Given the description of an element on the screen output the (x, y) to click on. 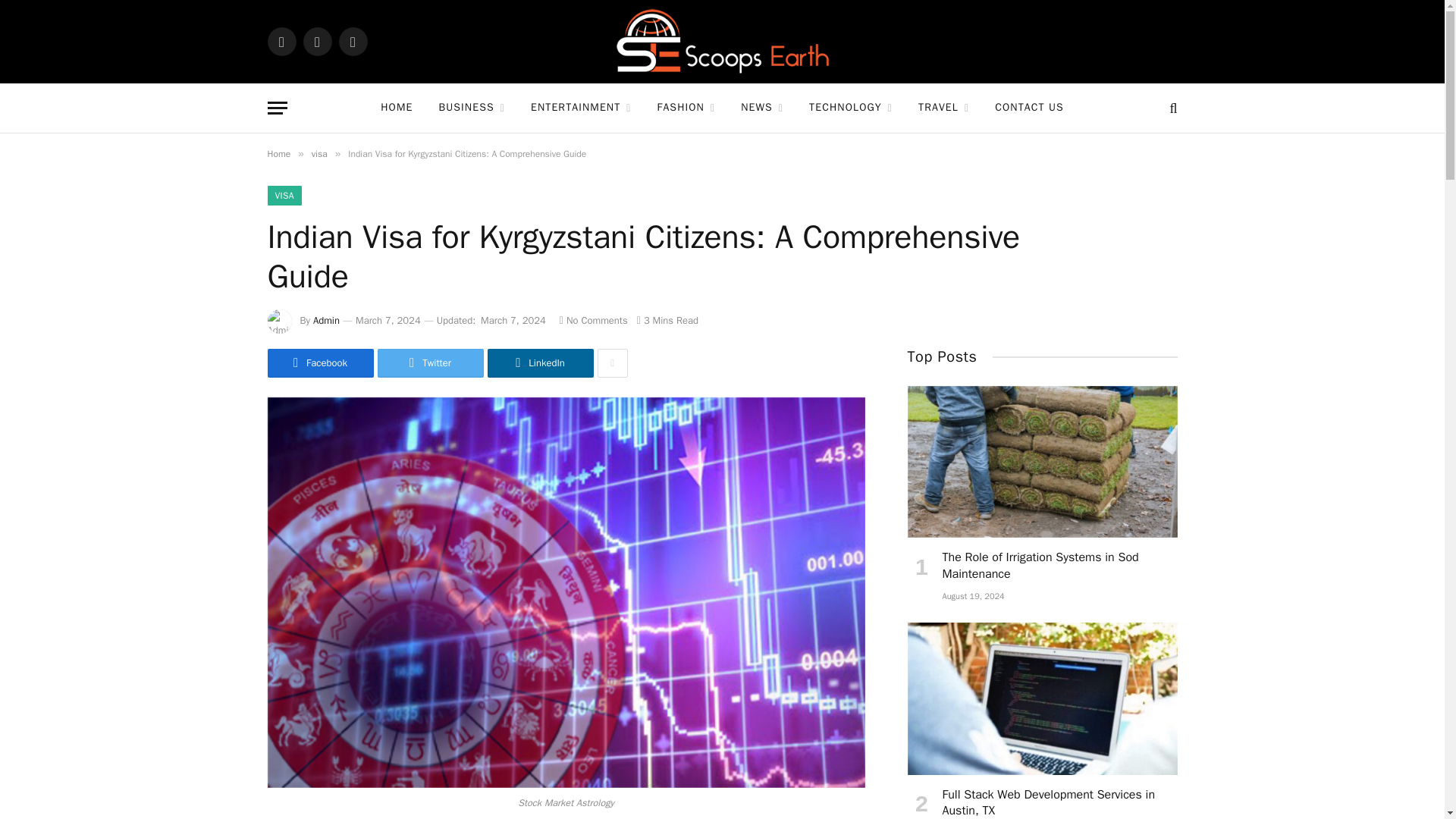
ENTERTAINMENT (581, 107)
Facebook (280, 41)
Twitter (316, 41)
HOME (396, 107)
Instagram (351, 41)
Scoops Earth (722, 41)
BUSINESS (471, 107)
